Given the description of an element on the screen output the (x, y) to click on. 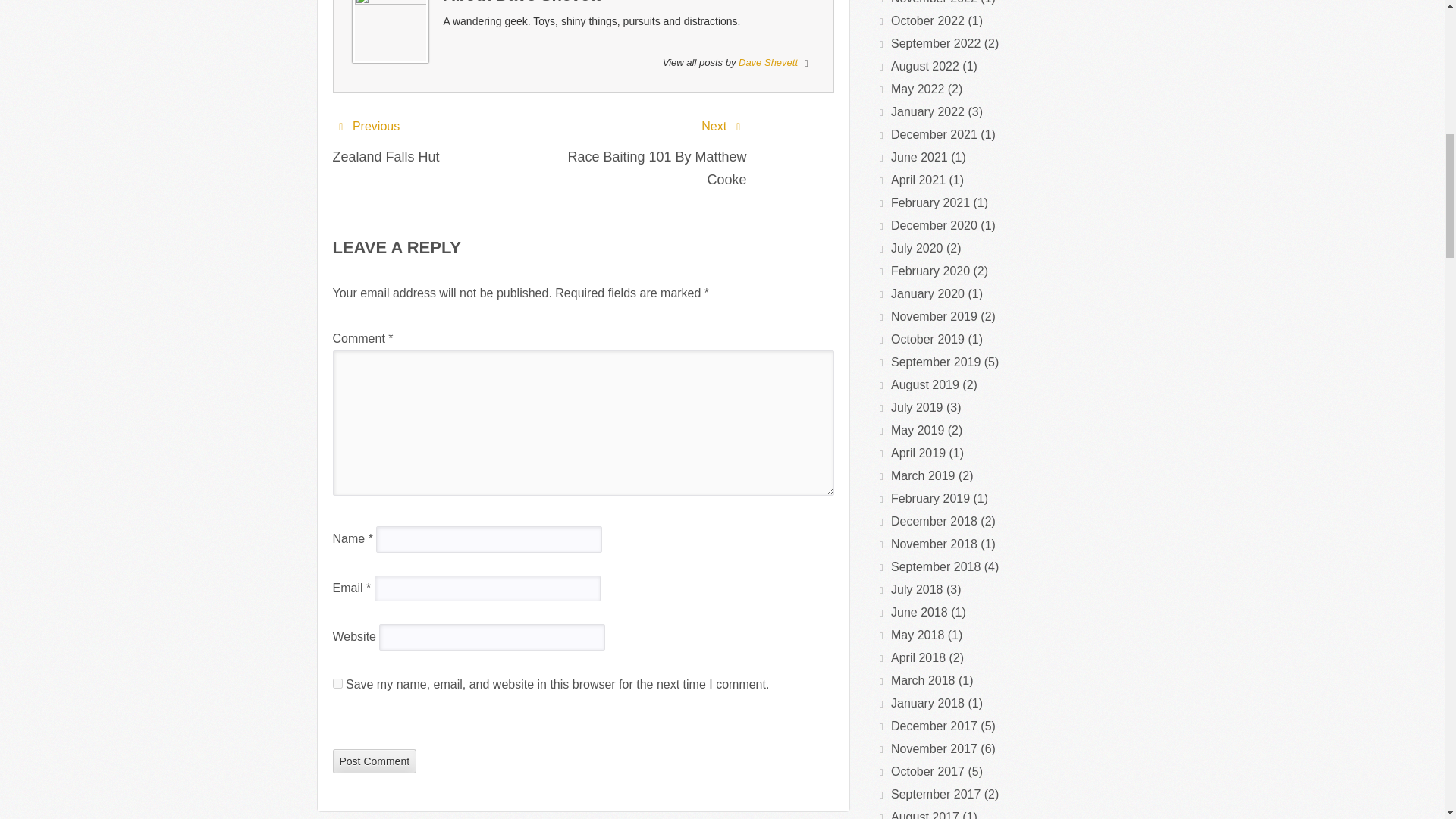
yes (336, 682)
Posts by Dave Shevett (767, 61)
Post Comment (373, 761)
Posts by Dave Shevett (547, 2)
